Given the description of an element on the screen output the (x, y) to click on. 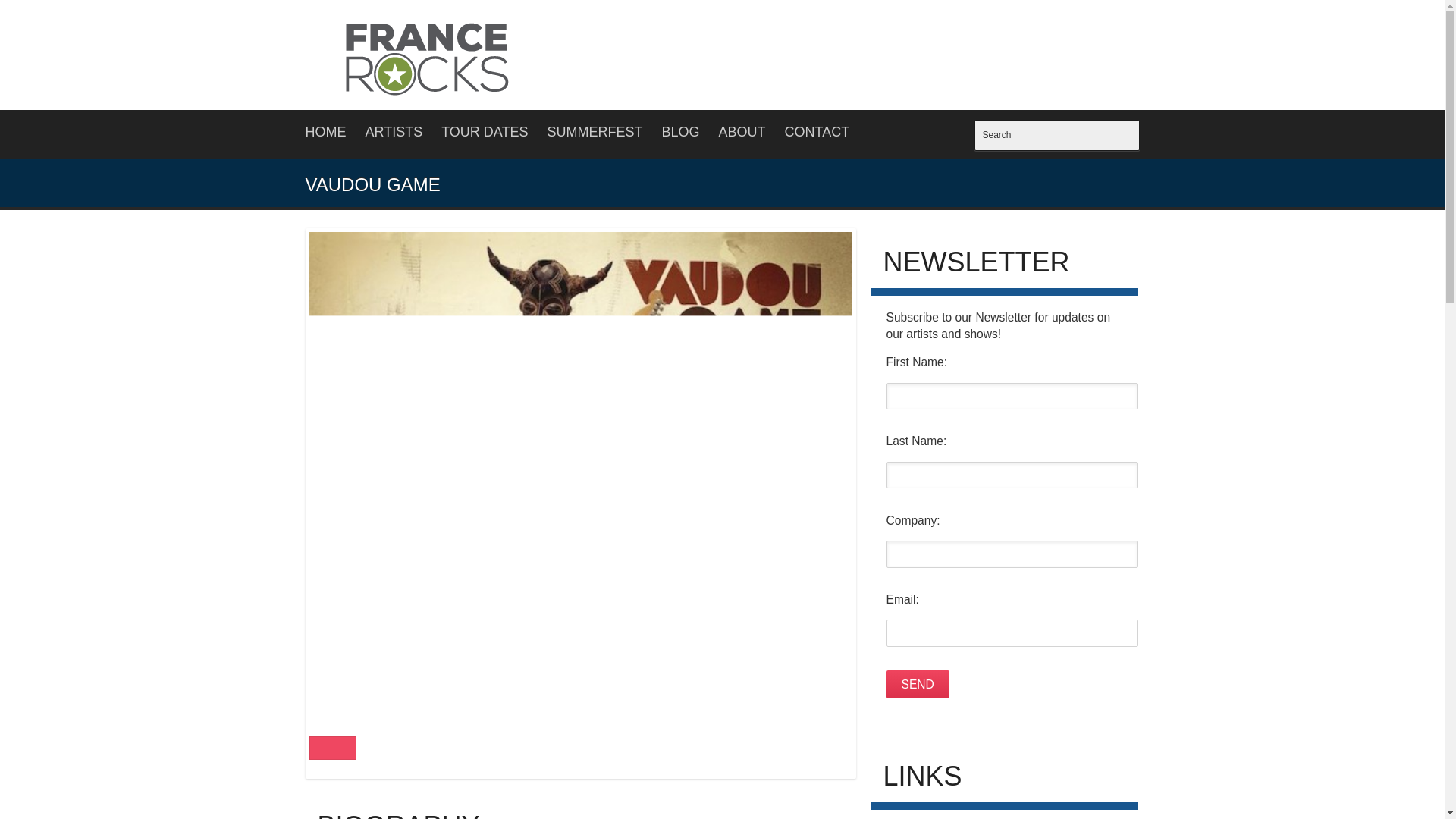
Facebook (340, 748)
SUMMERFEST (595, 132)
Tour Dates  (484, 132)
BLOG (681, 132)
Search (1056, 134)
ARTISTS (394, 132)
Send (917, 684)
Google  (323, 748)
Send (917, 684)
ABOUT (742, 132)
